Given the description of an element on the screen output the (x, y) to click on. 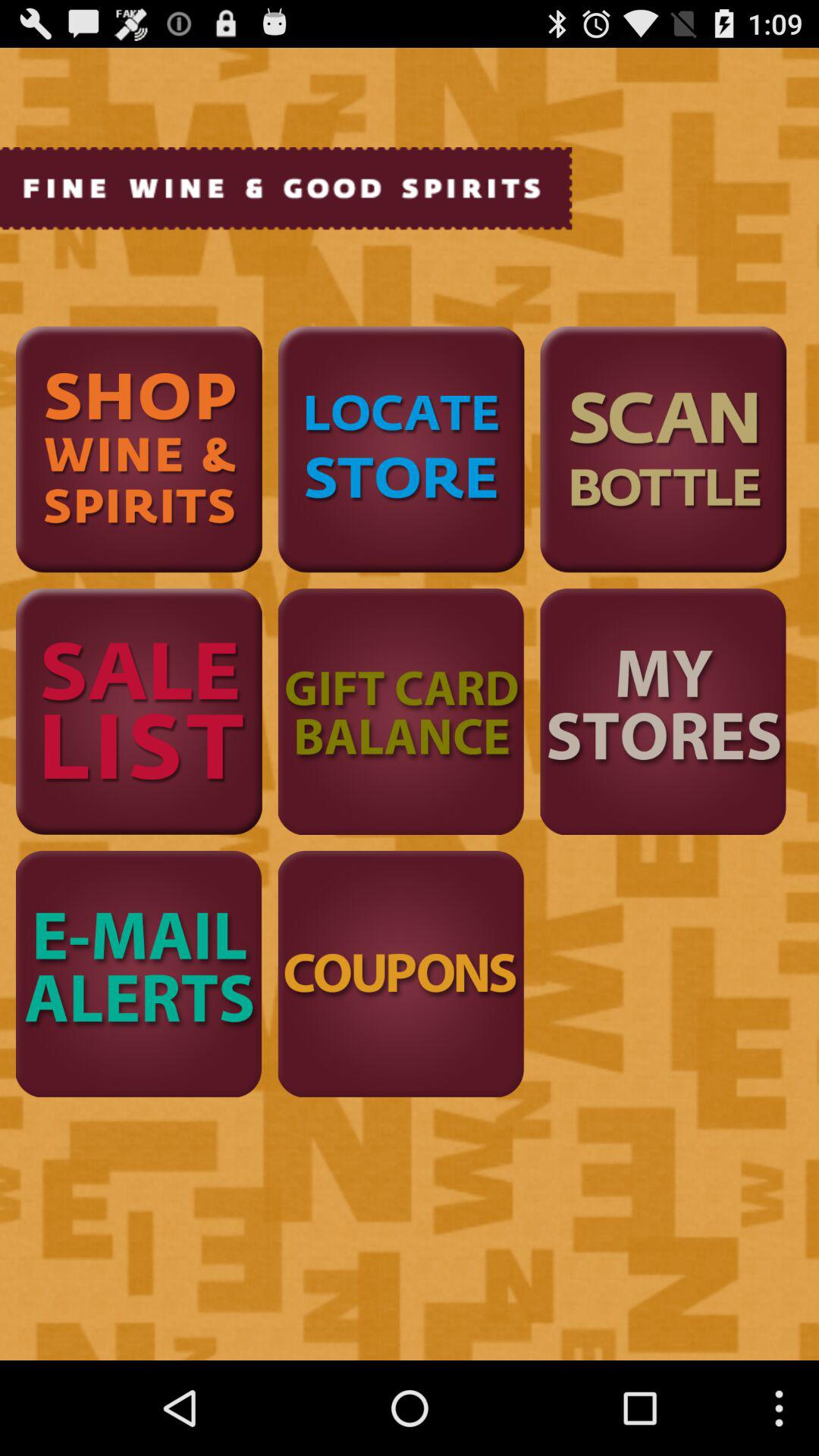
select coupons option (401, 973)
